Given the description of an element on the screen output the (x, y) to click on. 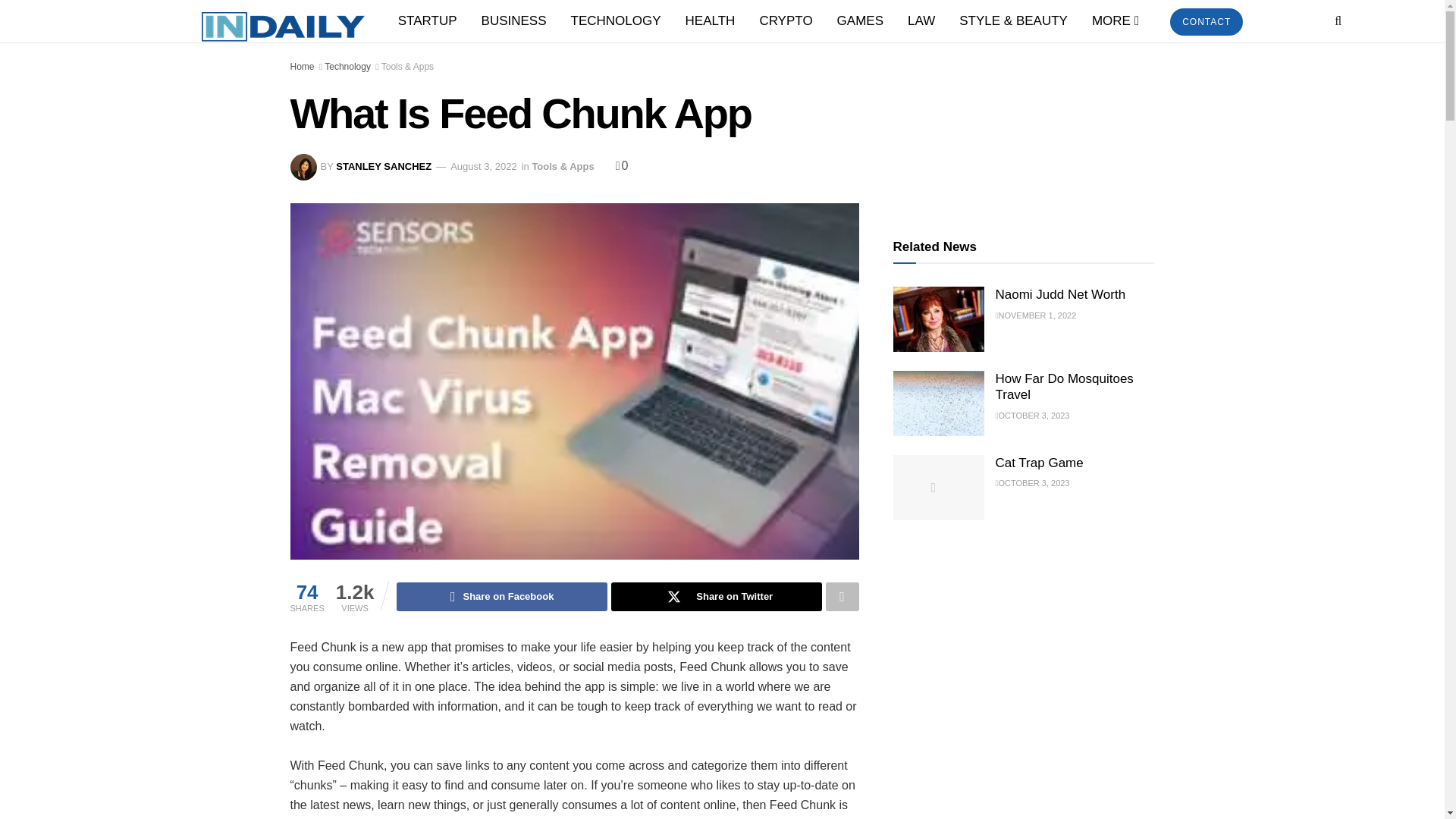
CONTACT (1206, 22)
Home (301, 66)
CRYPTO (785, 21)
How Far Do Mosquitoes Travel (938, 403)
Naomi Judd Net Worth (938, 319)
STARTUP (426, 21)
HEALTH (710, 21)
TECHNOLOGY (615, 21)
BUSINESS (513, 21)
